Given the description of an element on the screen output the (x, y) to click on. 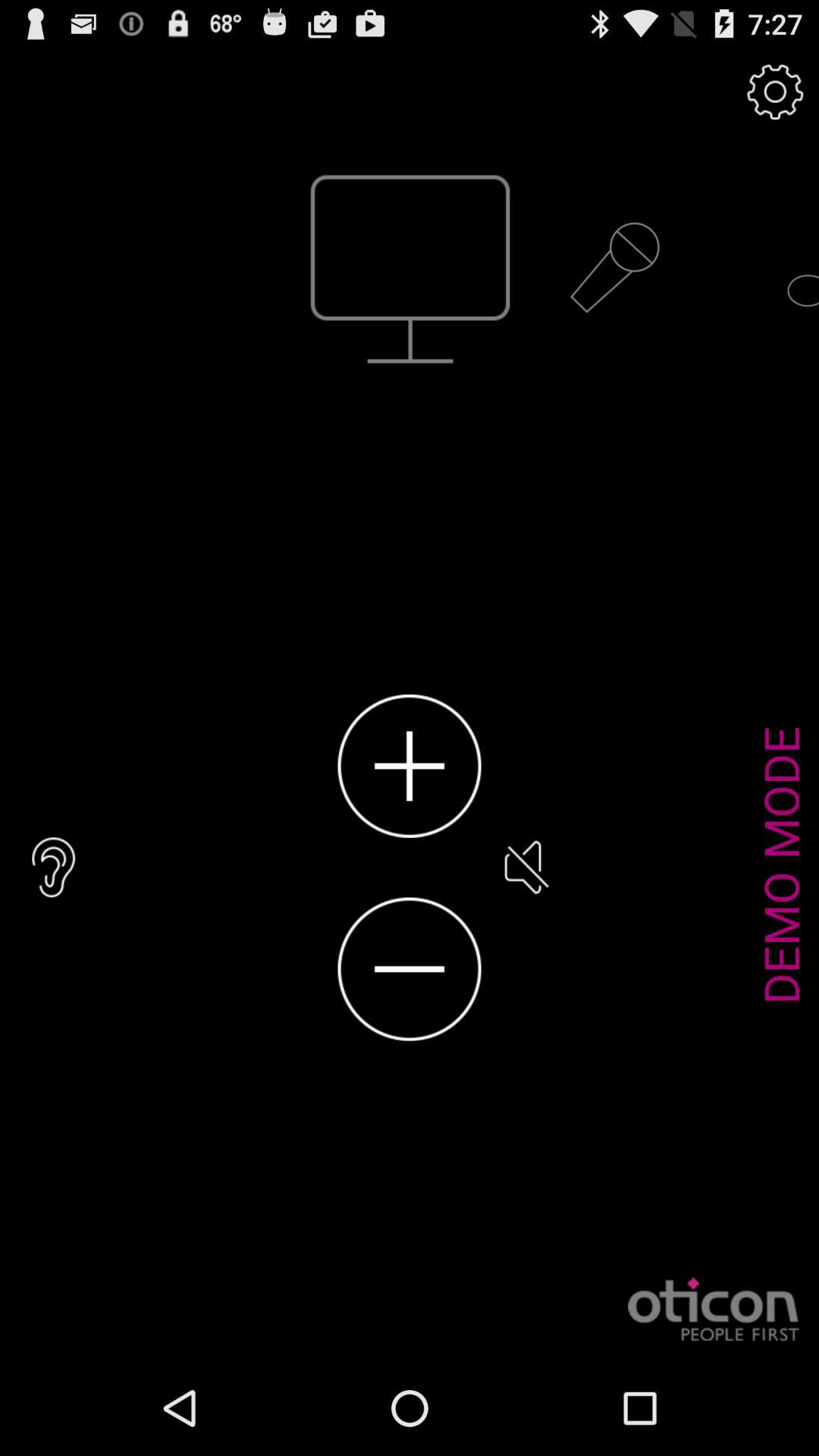
click on  button (409, 766)
